Given the description of an element on the screen output the (x, y) to click on. 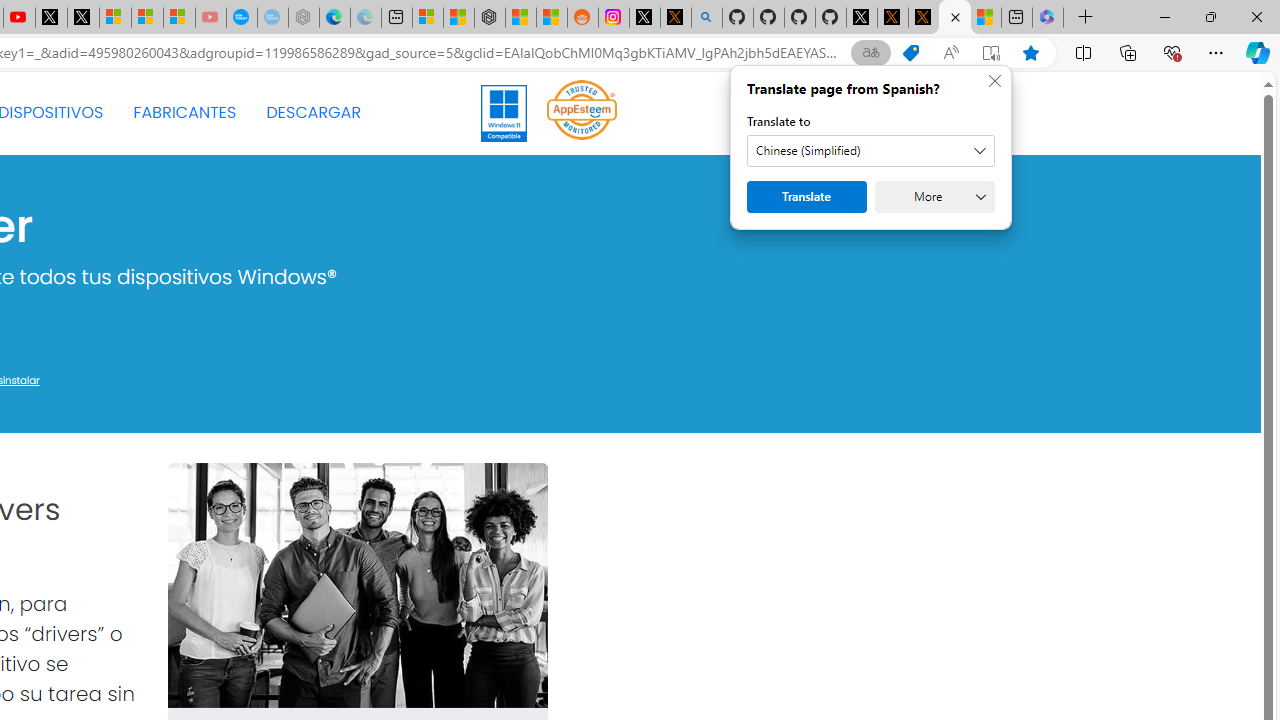
Opinion: Op-Ed and Commentary - USA TODAY (241, 17)
More (934, 196)
The most popular Google 'how to' searches - Sleeping (272, 17)
Show translate options (870, 53)
Nordace - Duffels (489, 17)
Nordace - Nordace has arrived Hong Kong - Sleeping (303, 17)
